Given the description of an element on the screen output the (x, y) to click on. 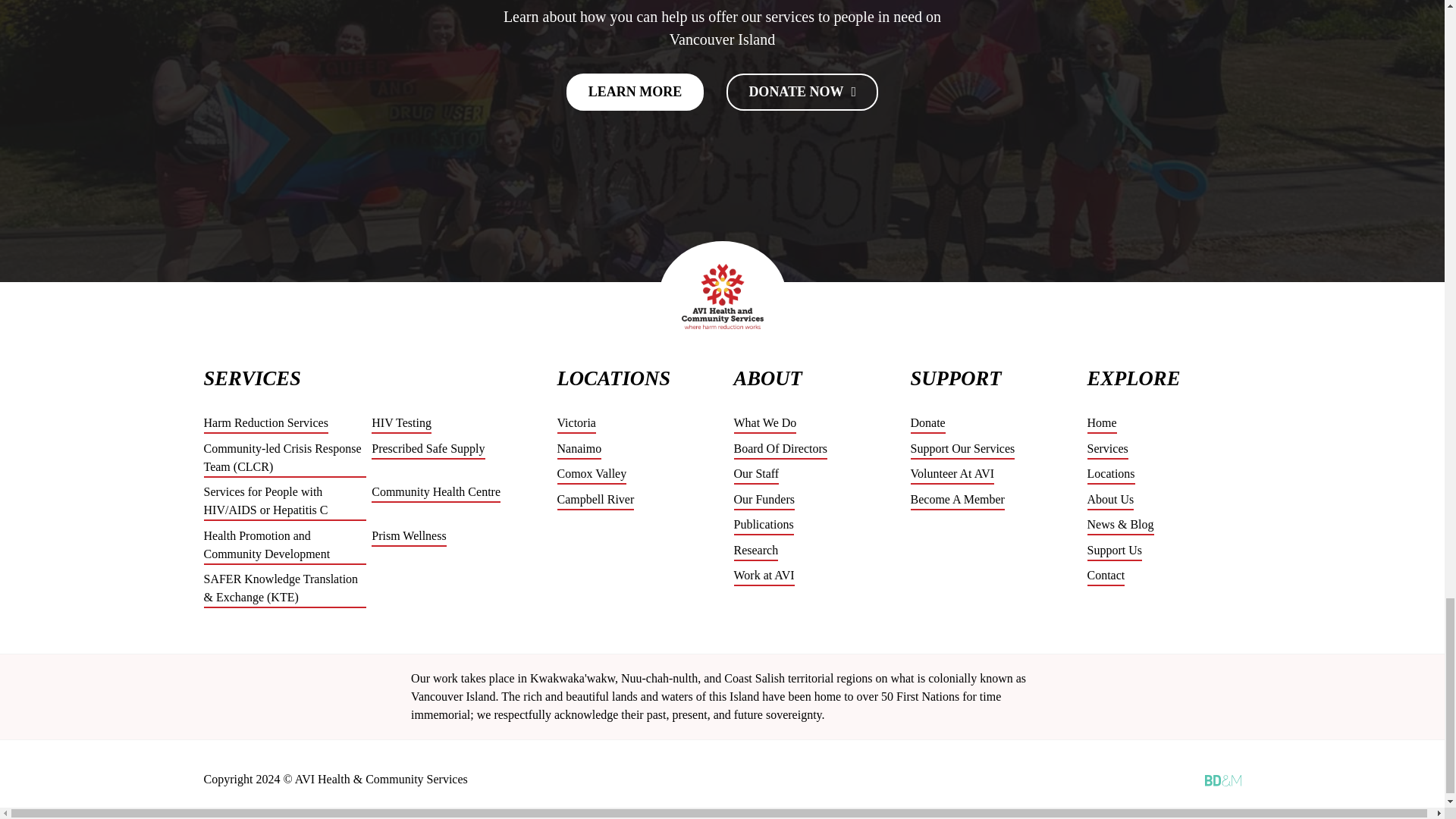
Becker Design and Media logo (1222, 779)
